Given the description of an element on the screen output the (x, y) to click on. 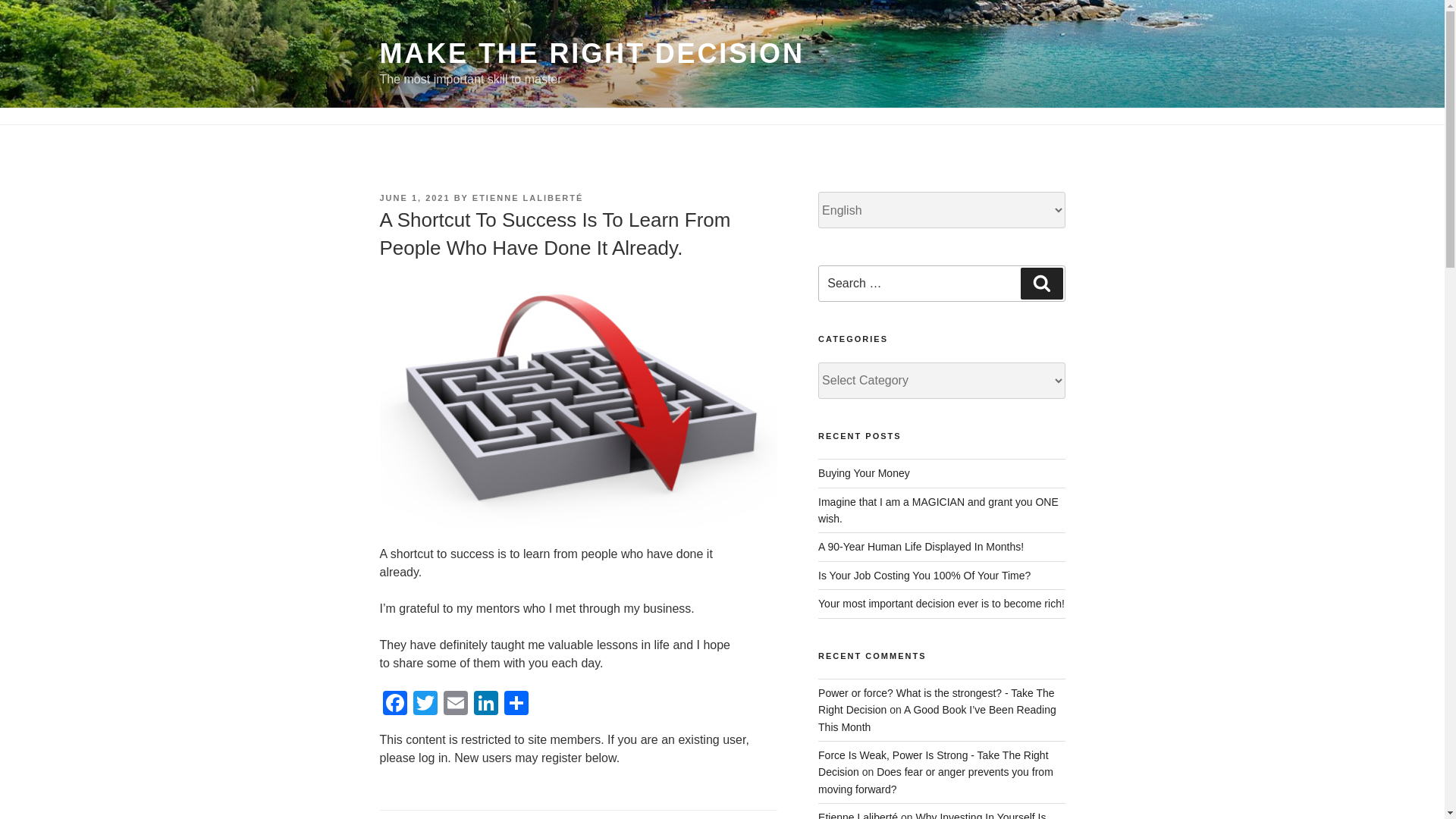
LinkedIn (485, 705)
LinkedIn (485, 705)
Buying Your Money (864, 472)
Facebook (393, 705)
Force Is Weak, Power Is Strong - Take The Right Decision (933, 763)
Imagine that I am a MAGICIAN and grant you ONE wish. (938, 510)
JUNE 1, 2021 (413, 197)
Facebook (393, 705)
A 90-Year Human Life Displayed In Months! (920, 546)
